Given the description of an element on the screen output the (x, y) to click on. 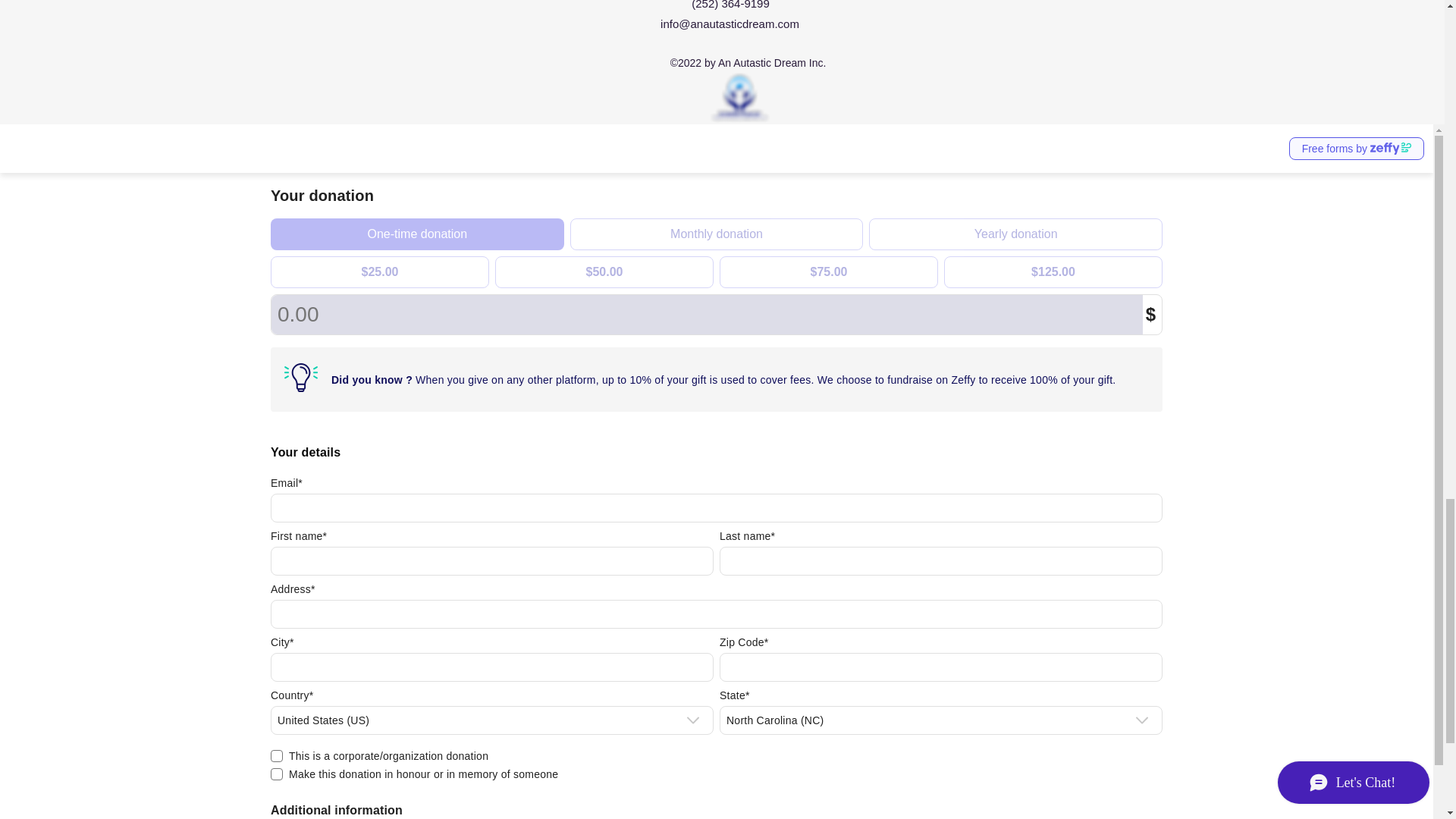
Autastic (739, 98)
